Given the description of an element on the screen output the (x, y) to click on. 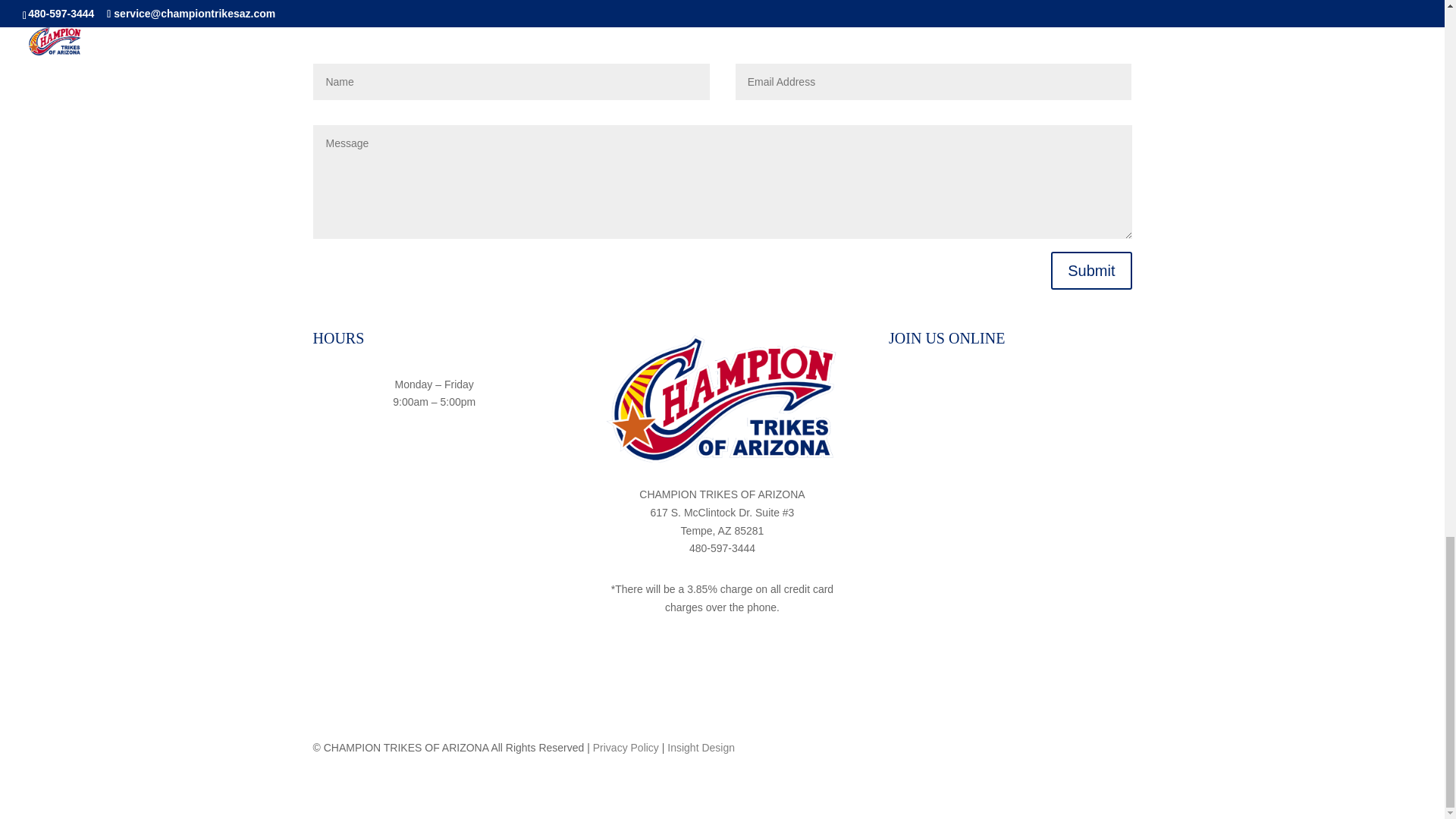
Follow on Instagram (1009, 387)
Premium WordPress Themes (700, 747)
Submit (1091, 270)
Only letters allowed. (511, 81)
Follow on Twitter (1039, 387)
Insight Design (700, 747)
Follow on Facebook (979, 387)
